Given the description of an element on the screen output the (x, y) to click on. 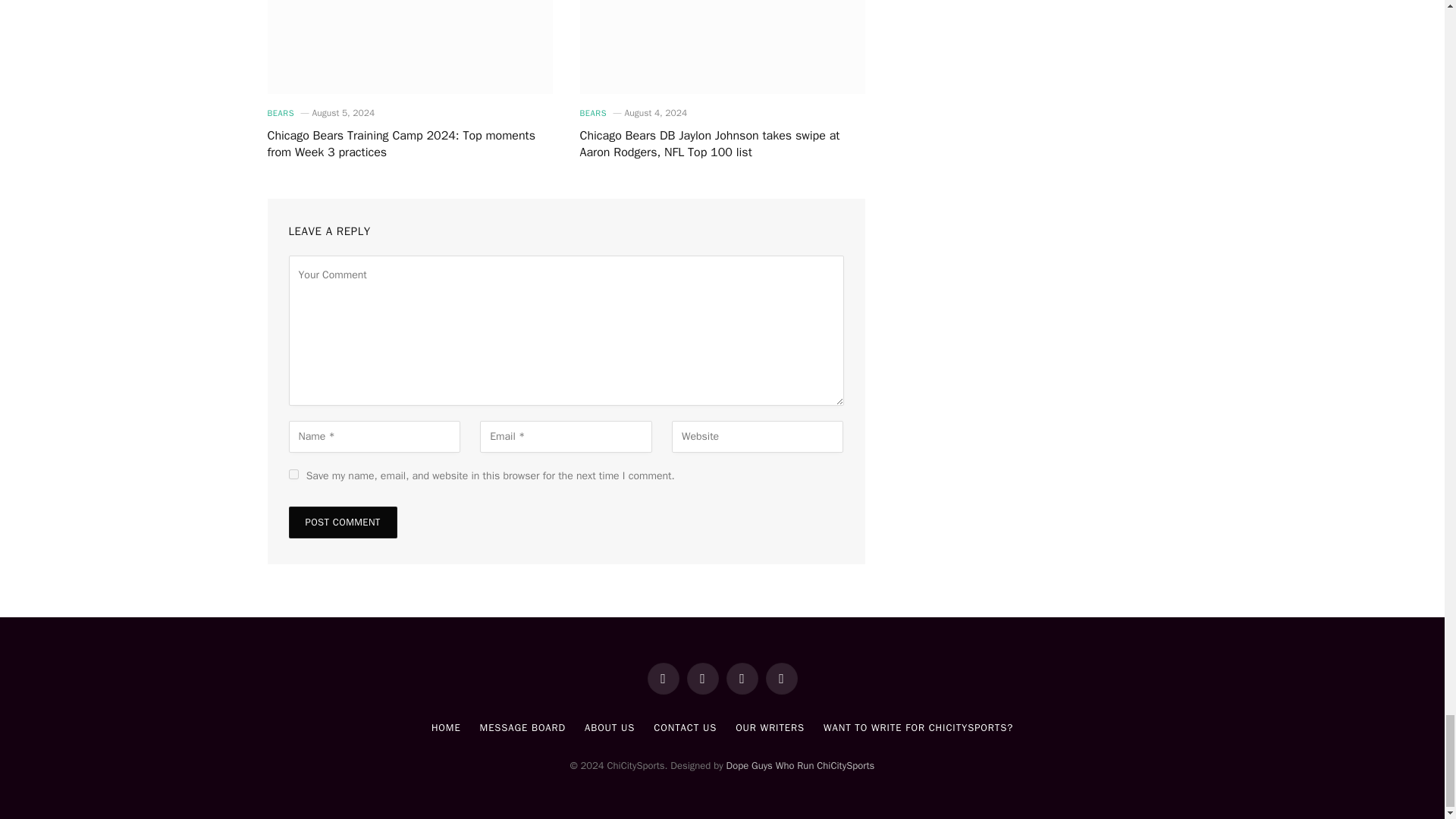
yes (293, 474)
Post Comment (342, 522)
